Given the description of an element on the screen output the (x, y) to click on. 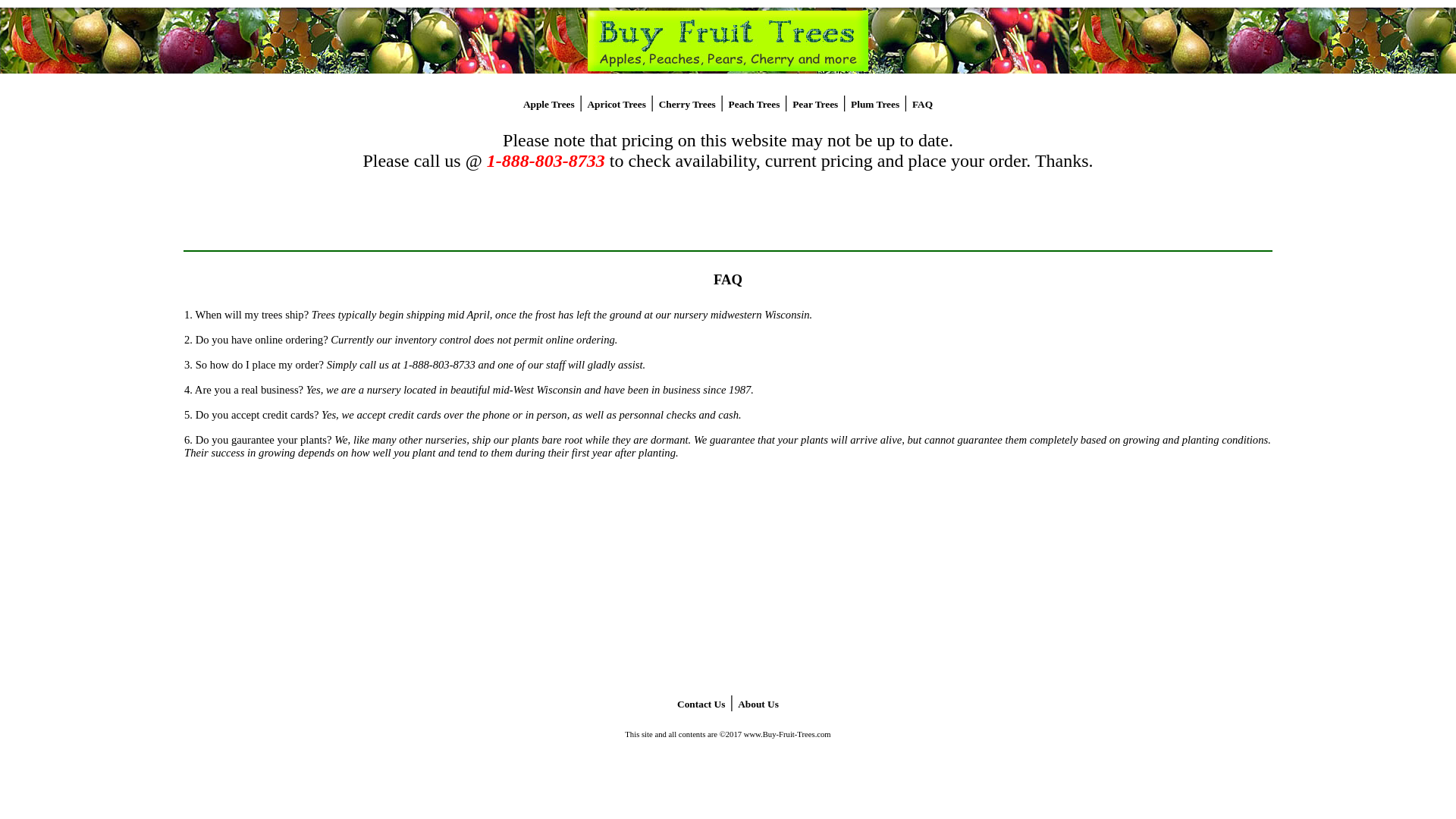
Advertisement (727, 639)
Plum Trees (874, 103)
Peach Trees (754, 103)
Apple Trees (548, 103)
Cherry Trees (687, 103)
FAQ (922, 103)
Contact Us (701, 704)
Pear Trees (815, 103)
Advertisement (727, 224)
About Us (758, 704)
Apricot Trees (615, 103)
